Given the description of an element on the screen output the (x, y) to click on. 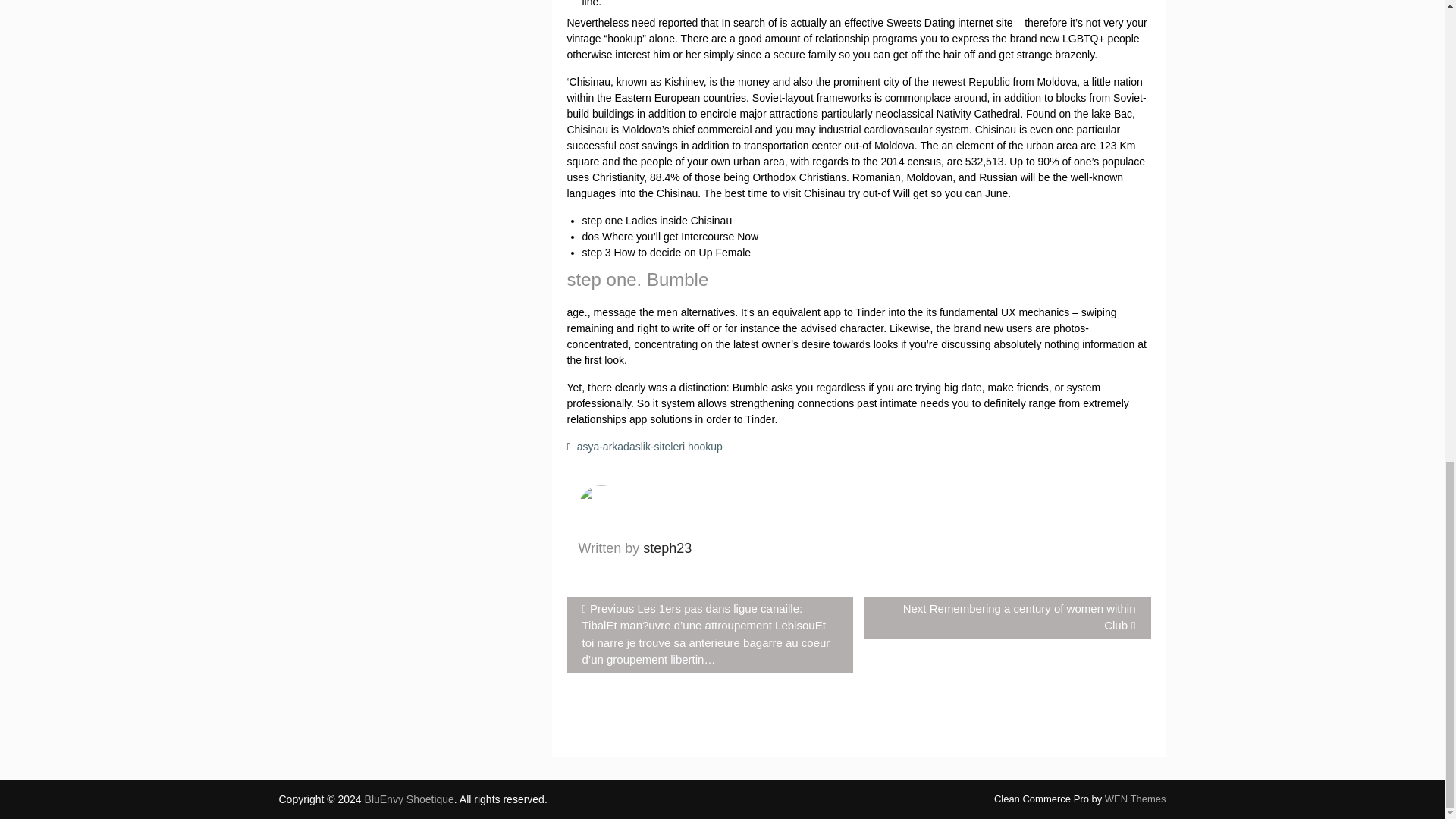
WEN Themes (1007, 617)
Posts by steph23 (1135, 798)
steph23 (667, 548)
BluEnvy Shoetique (667, 548)
asya-arkadaslik-siteleri hookup (409, 799)
